Given the description of an element on the screen output the (x, y) to click on. 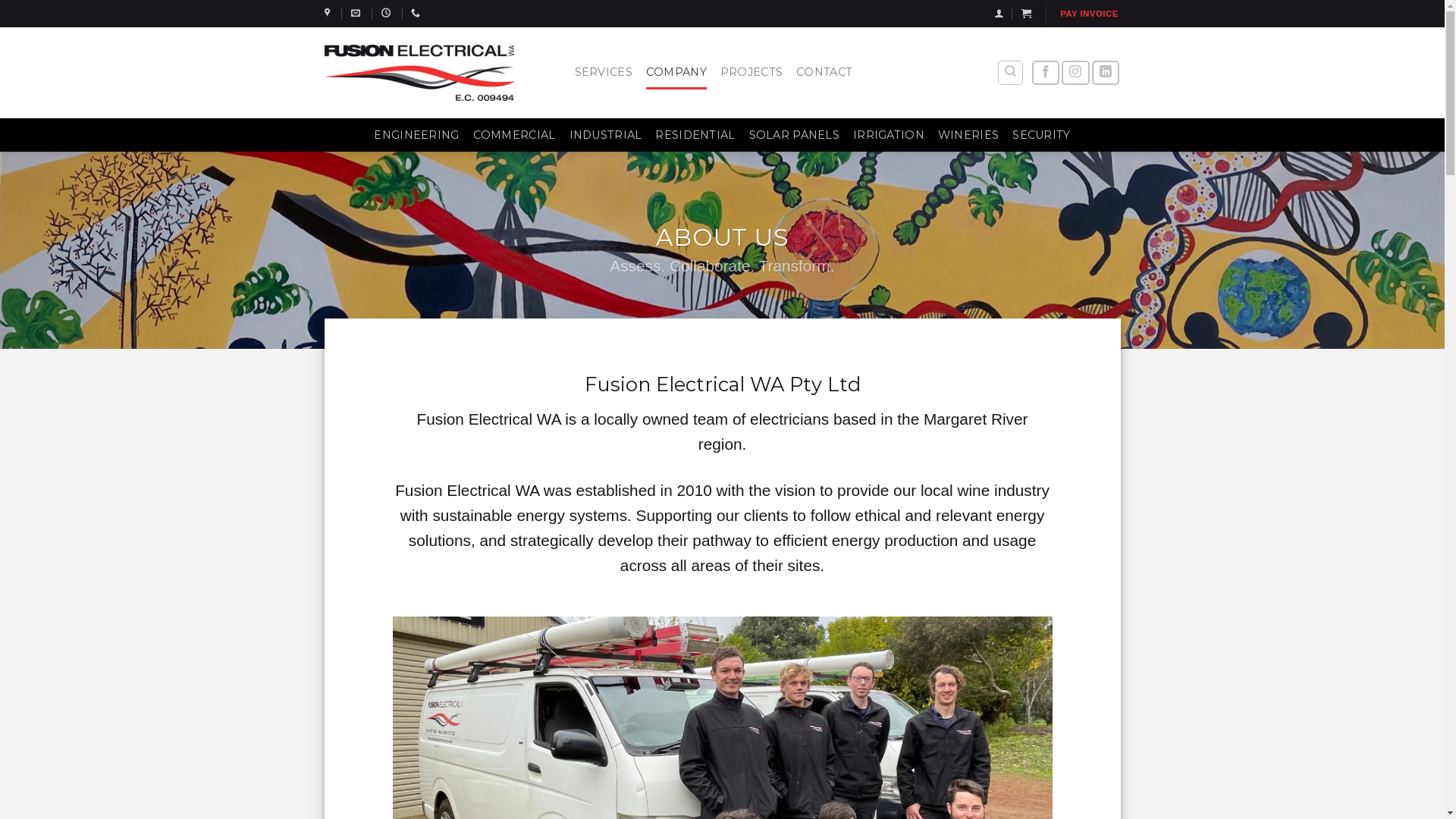
0448 012 922 Element type: hover (417, 12)
INDUSTRIAL Element type: text (604, 134)
Follow on LinkedIn Element type: hover (1105, 72)
CONTACT Element type: text (824, 72)
works@fusionelectricalwa.com Element type: hover (357, 12)
PROJECTS Element type: text (751, 72)
IRRIGATION Element type: text (888, 134)
COMPANY Element type: text (676, 72)
Margaret River Element type: hover (329, 12)
Opening Hours | 07:00-16:00  Element type: hover (387, 12)
Follow on Facebook Element type: hover (1045, 72)
PAY INVOICE Element type: text (1088, 13)
Cart Element type: hover (1026, 12)
RESIDENTIAL Element type: text (694, 134)
SOLAR PANELS Element type: text (794, 134)
Follow on Instagram Element type: hover (1074, 72)
Fusion Electrical WA - Assess. Collaborate. Transform. Element type: hover (419, 72)
WINERIES Element type: text (968, 134)
COMMERCIAL Element type: text (514, 134)
ENGINEERING Element type: text (415, 134)
SERVICES Element type: text (603, 72)
SECURITY Element type: text (1041, 134)
